Given the description of an element on the screen output the (x, y) to click on. 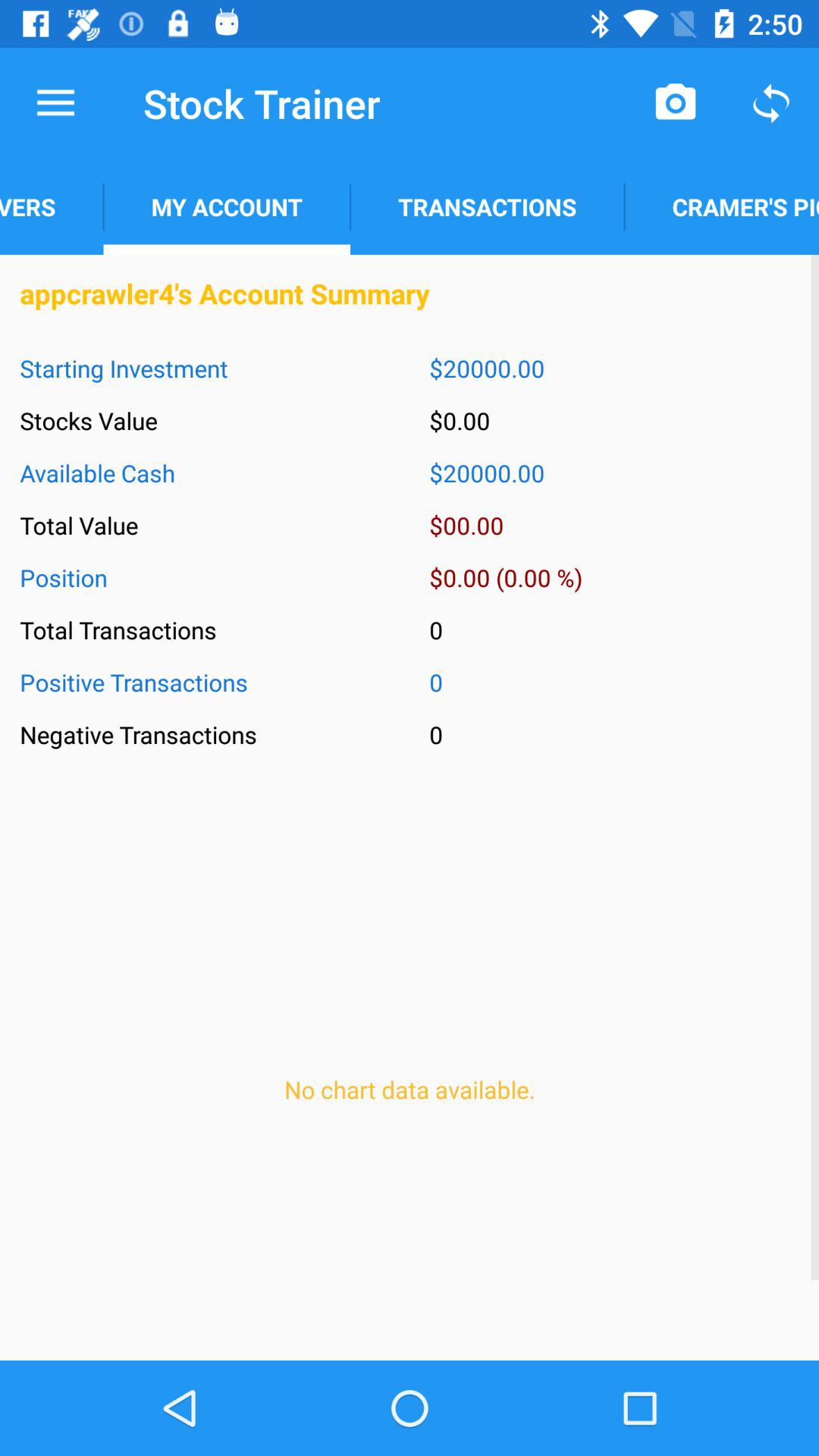
launch icon next to the my account (51, 206)
